Given the description of an element on the screen output the (x, y) to click on. 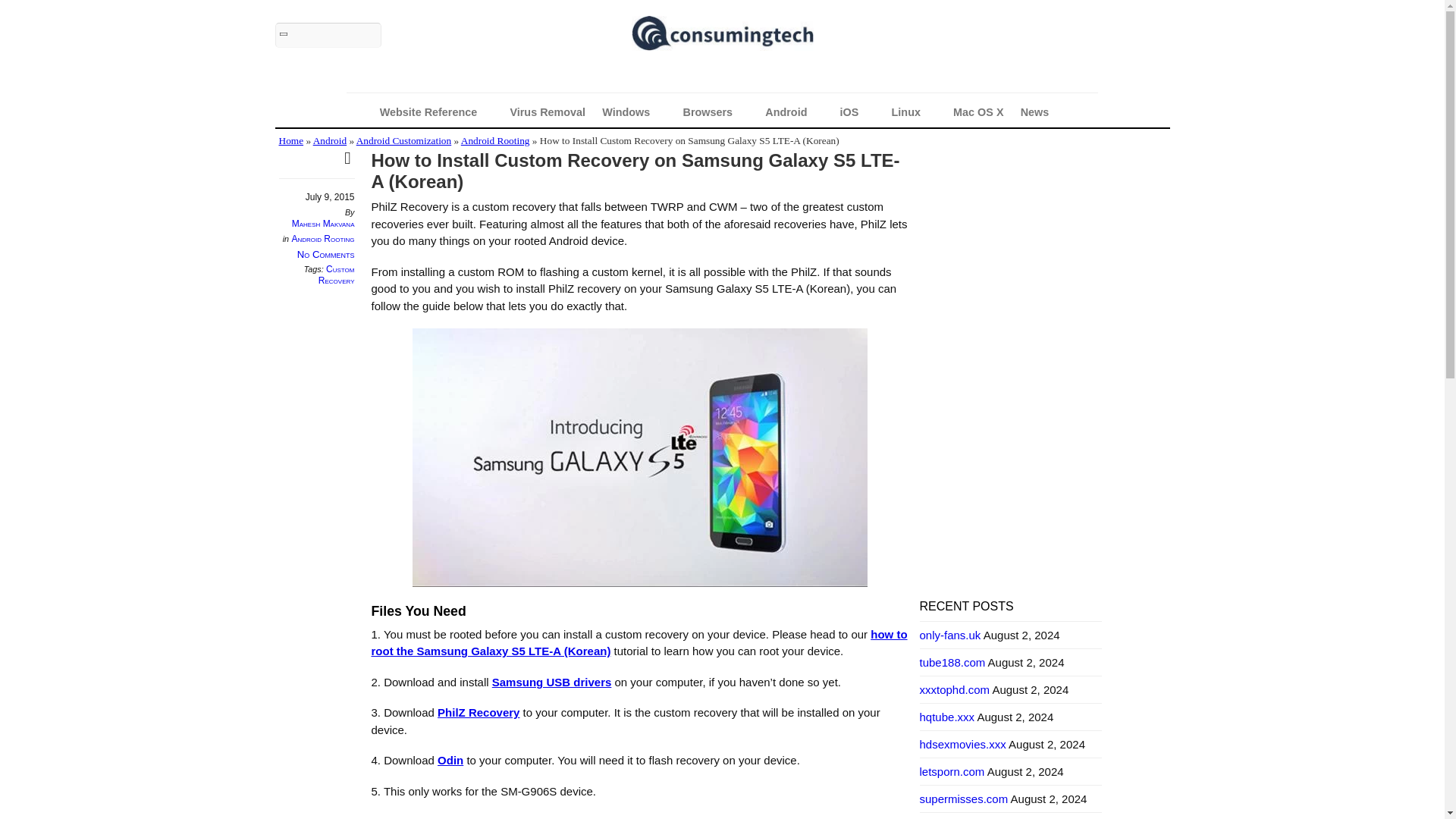
Android (794, 112)
Android (329, 140)
News (1042, 112)
Android Rooting (495, 140)
No Comments (326, 254)
Mahesh Makvana (323, 223)
Browsers (715, 112)
Linux (914, 112)
iOS (857, 112)
Website Reference (436, 112)
Consuming Tech (721, 36)
Windows (633, 112)
Virus Removal (547, 112)
Home (291, 140)
Custom Recovery (336, 274)
